Given the description of an element on the screen output the (x, y) to click on. 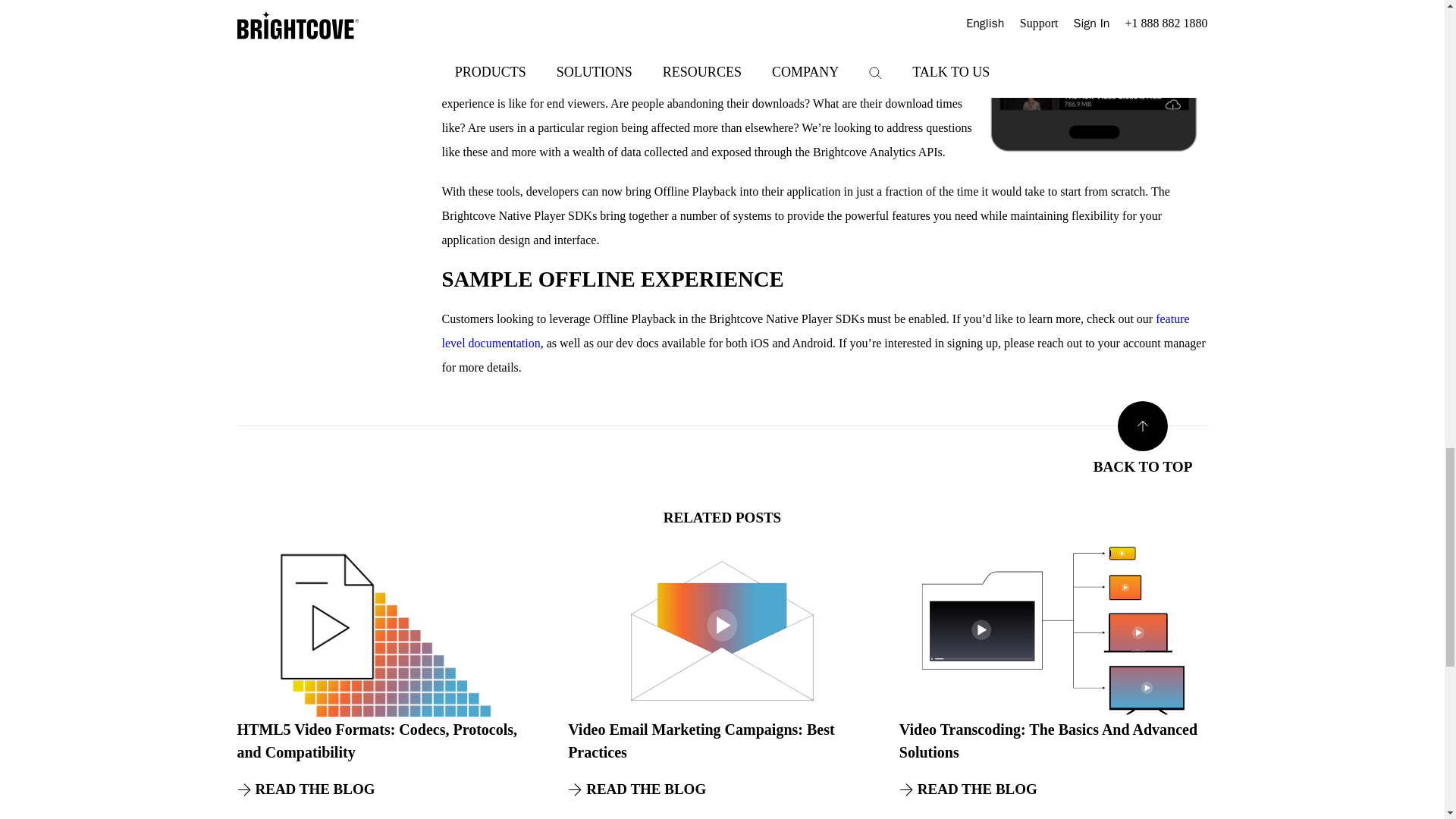
See our feature level documentation (815, 330)
Android video player on smartphone (1093, 80)
feature level documentation (815, 330)
